Given the description of an element on the screen output the (x, y) to click on. 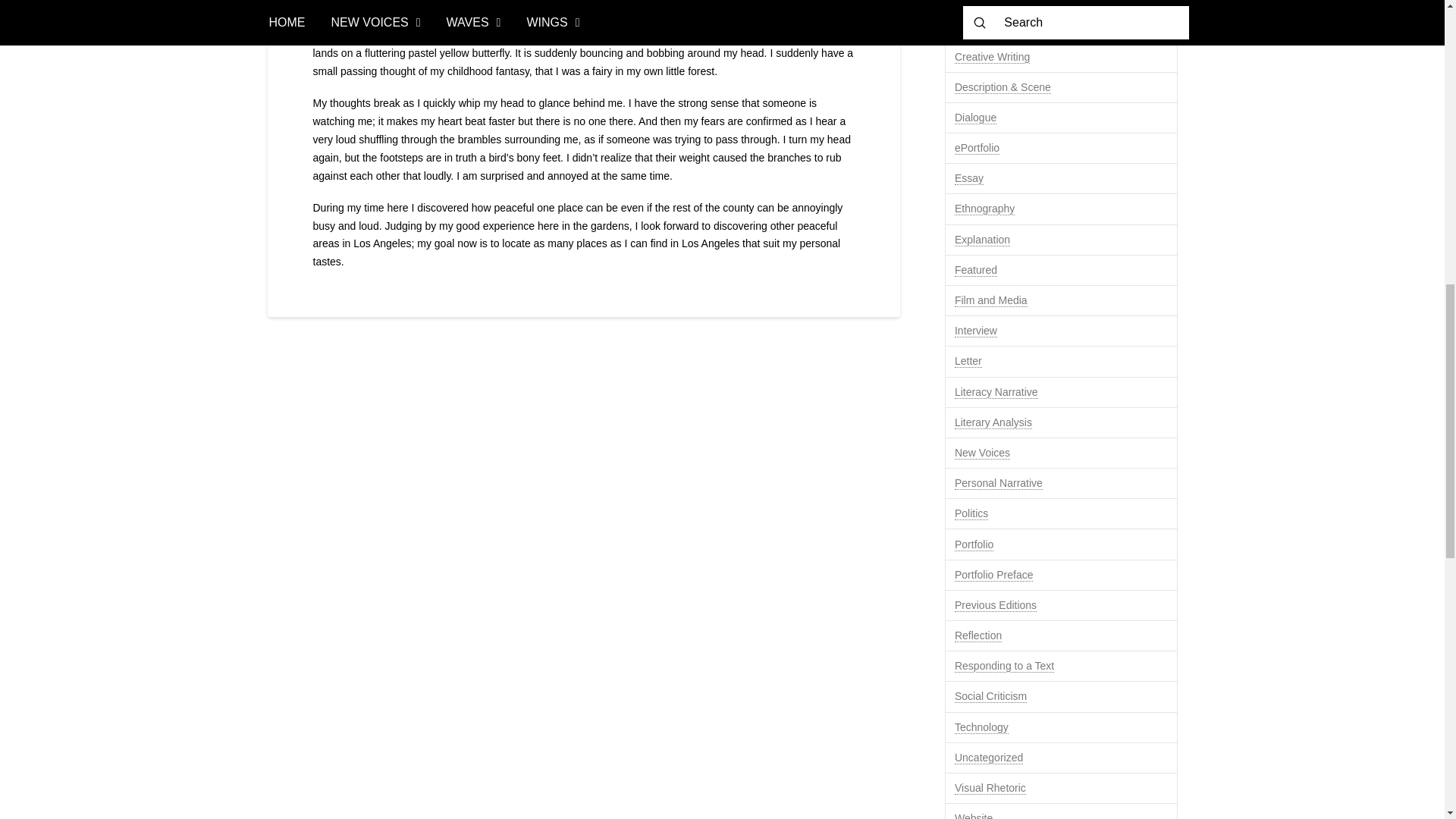
Blog Post (977, 25)
Blog (965, 1)
Dialogue (975, 117)
Creative Writing (992, 56)
ePortfolio (976, 147)
